Given the description of an element on the screen output the (x, y) to click on. 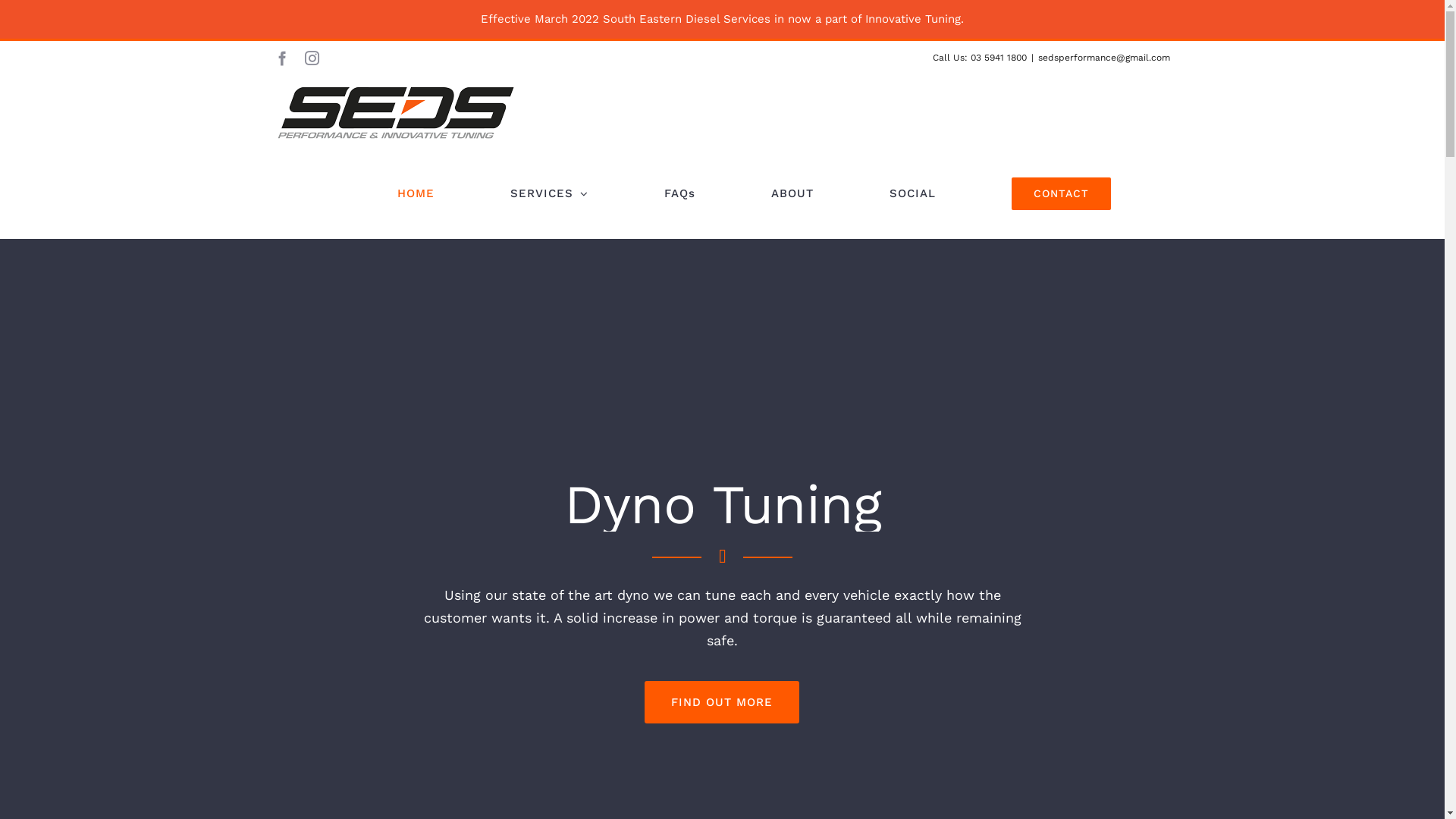
FAQs Element type: text (679, 194)
SOCIAL Element type: text (911, 194)
sedsperformance@gmail.com Element type: text (1103, 57)
HOME Element type: text (415, 194)
FIND OUT MORE Element type: text (721, 701)
SERVICES Element type: text (548, 194)
Facebook Element type: text (281, 57)
CONTACT Element type: text (1060, 194)
Instagram Element type: text (311, 57)
ABOUT Element type: text (791, 194)
